Given the description of an element on the screen output the (x, y) to click on. 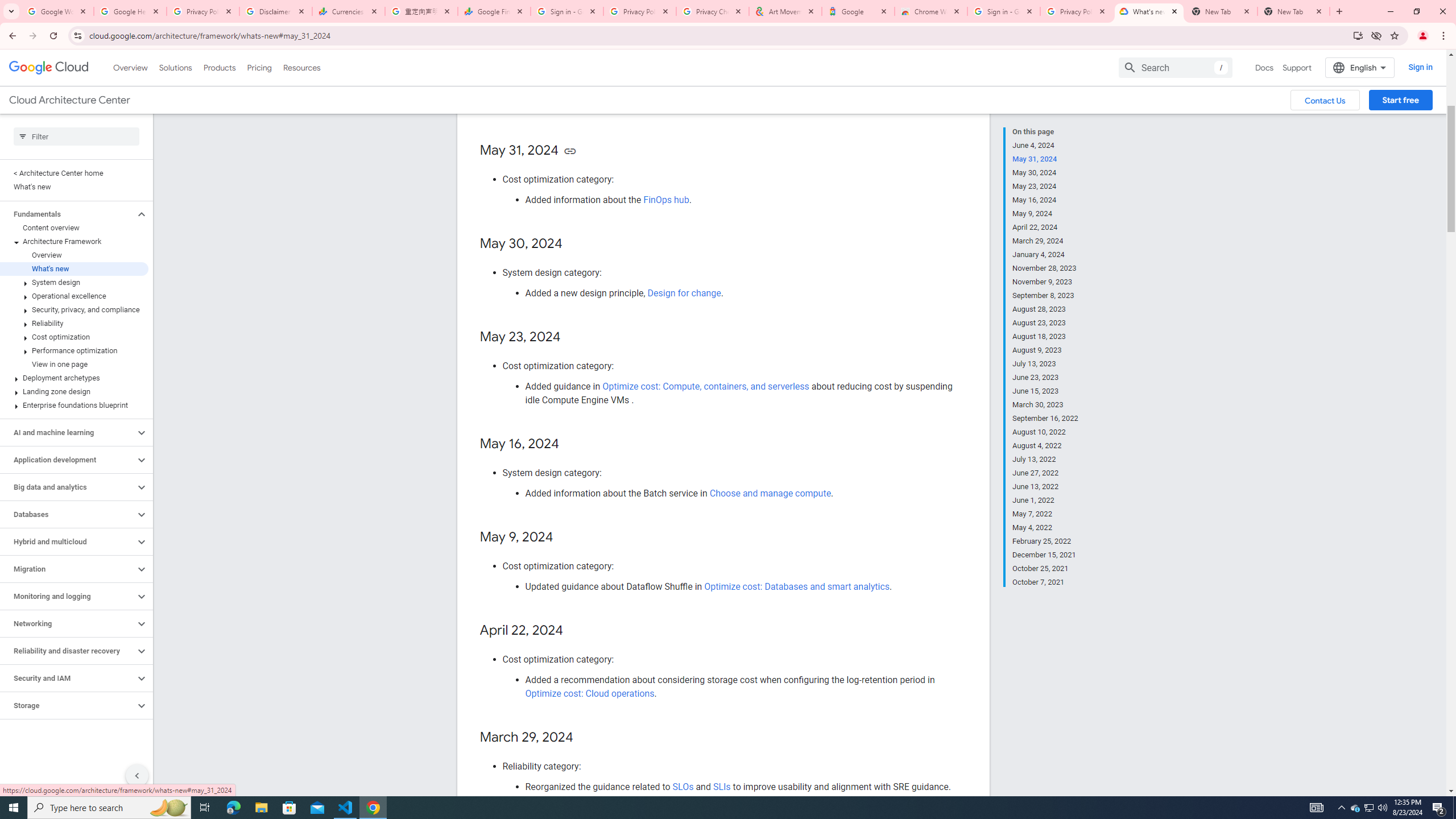
Reliability (74, 323)
Support (1296, 67)
Docs, selected (1264, 67)
May 4, 2022 (1044, 527)
July 13, 2022 (1044, 459)
FinOps hub (665, 199)
Fundamentals (67, 214)
Cloud Architecture Center (68, 100)
Design for change (683, 292)
Copy link to this section: May 30, 2024 (573, 244)
Storage (67, 705)
June 1, 2022 (1044, 499)
